Given the description of an element on the screen output the (x, y) to click on. 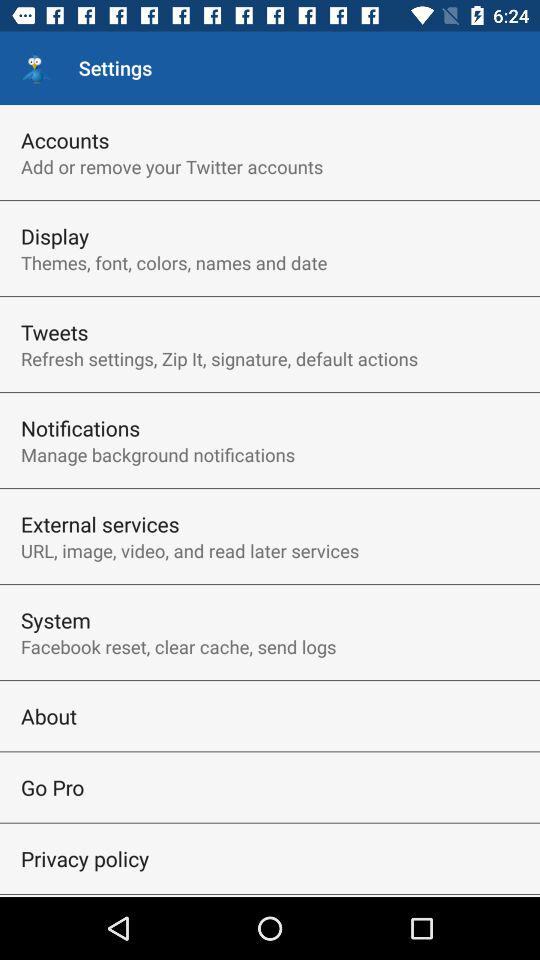
swipe to the tweets item (54, 332)
